Given the description of an element on the screen output the (x, y) to click on. 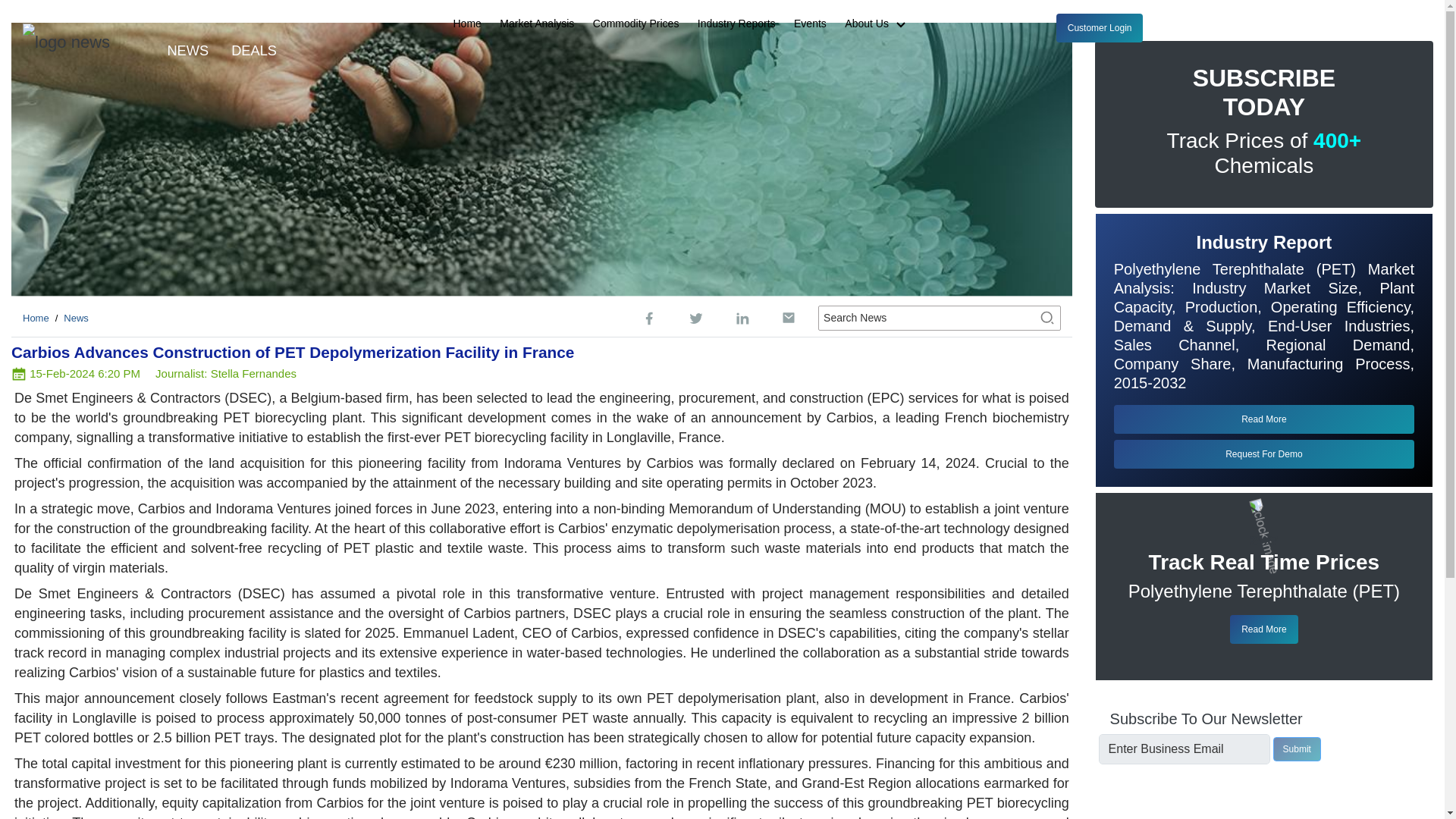
Submit (1296, 749)
Request For Demo (1263, 453)
Customer Login (1099, 27)
Market Analysis (536, 23)
Read More (1263, 419)
Home (467, 23)
Commodity Prices (636, 23)
Events (810, 23)
Read More (1263, 629)
Submit (1296, 749)
